Given the description of an element on the screen output the (x, y) to click on. 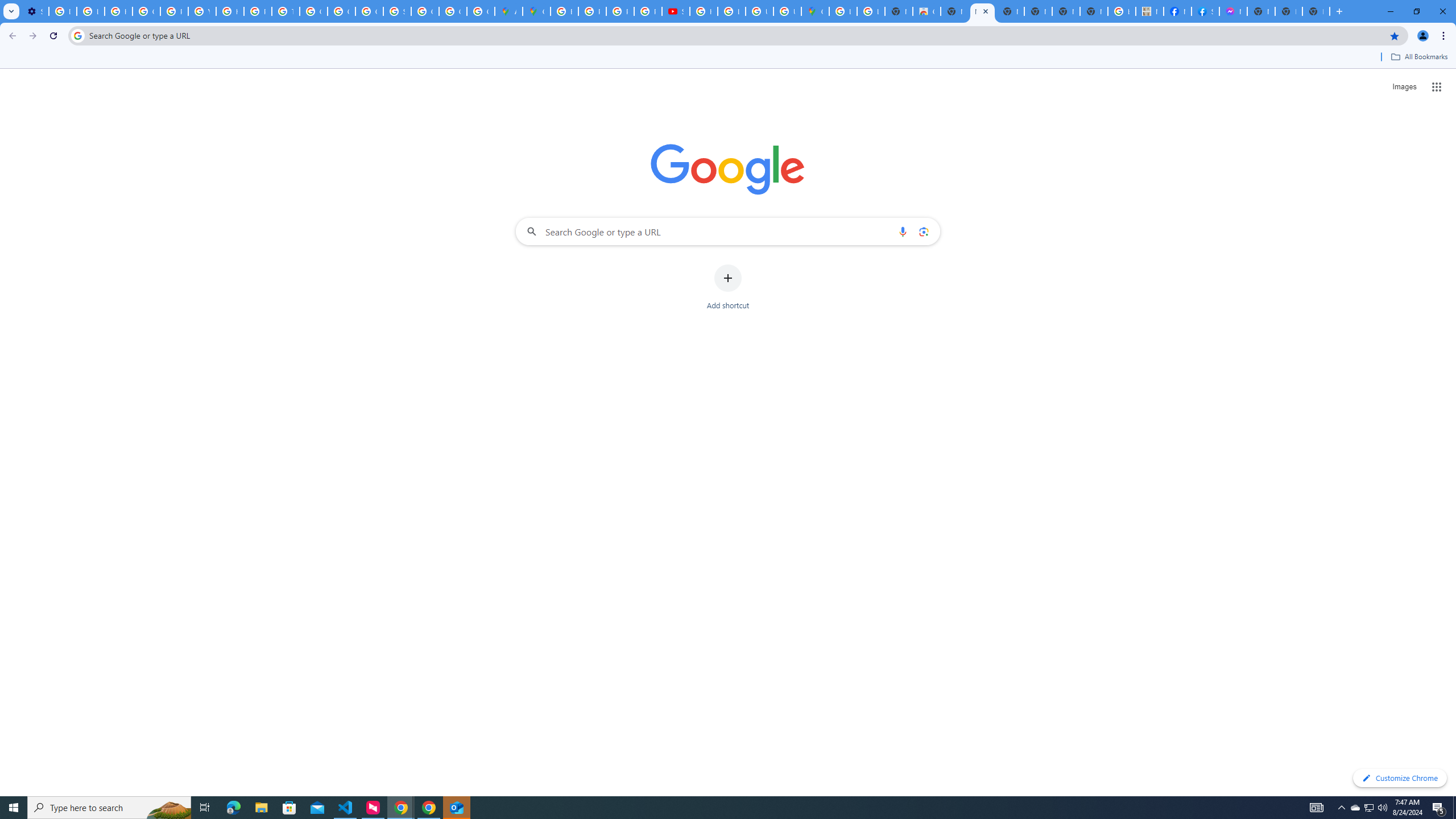
Privacy Help Center - Policies Help (620, 11)
Add shortcut (727, 287)
Sign Up for Facebook (1205, 11)
Privacy Help Center - Policies Help (592, 11)
Search by voice (902, 230)
All Bookmarks (1418, 56)
Settings - Customize profile (34, 11)
